Given the description of an element on the screen output the (x, y) to click on. 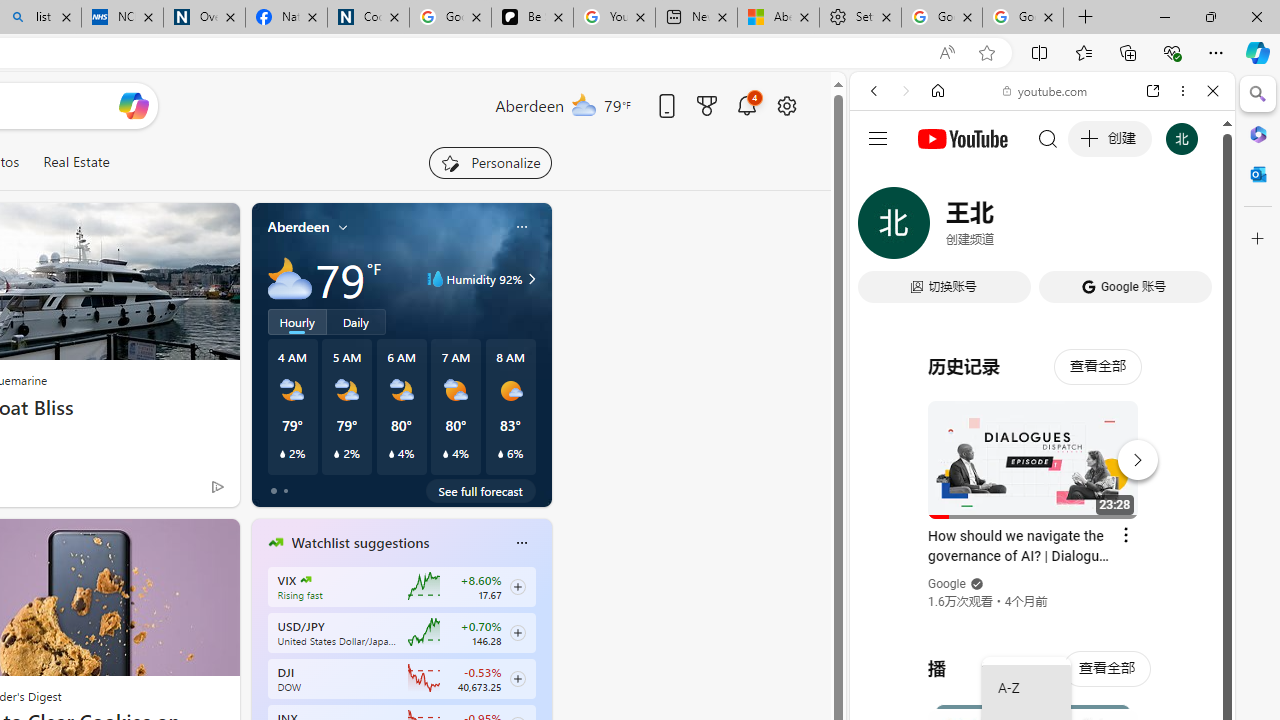
Search videos from youtube.com (1005, 657)
Daily (356, 321)
Show More Music (1164, 546)
NCL Adult Asthma Inhaler Choice Guideline (121, 17)
